Given the description of an element on the screen output the (x, y) to click on. 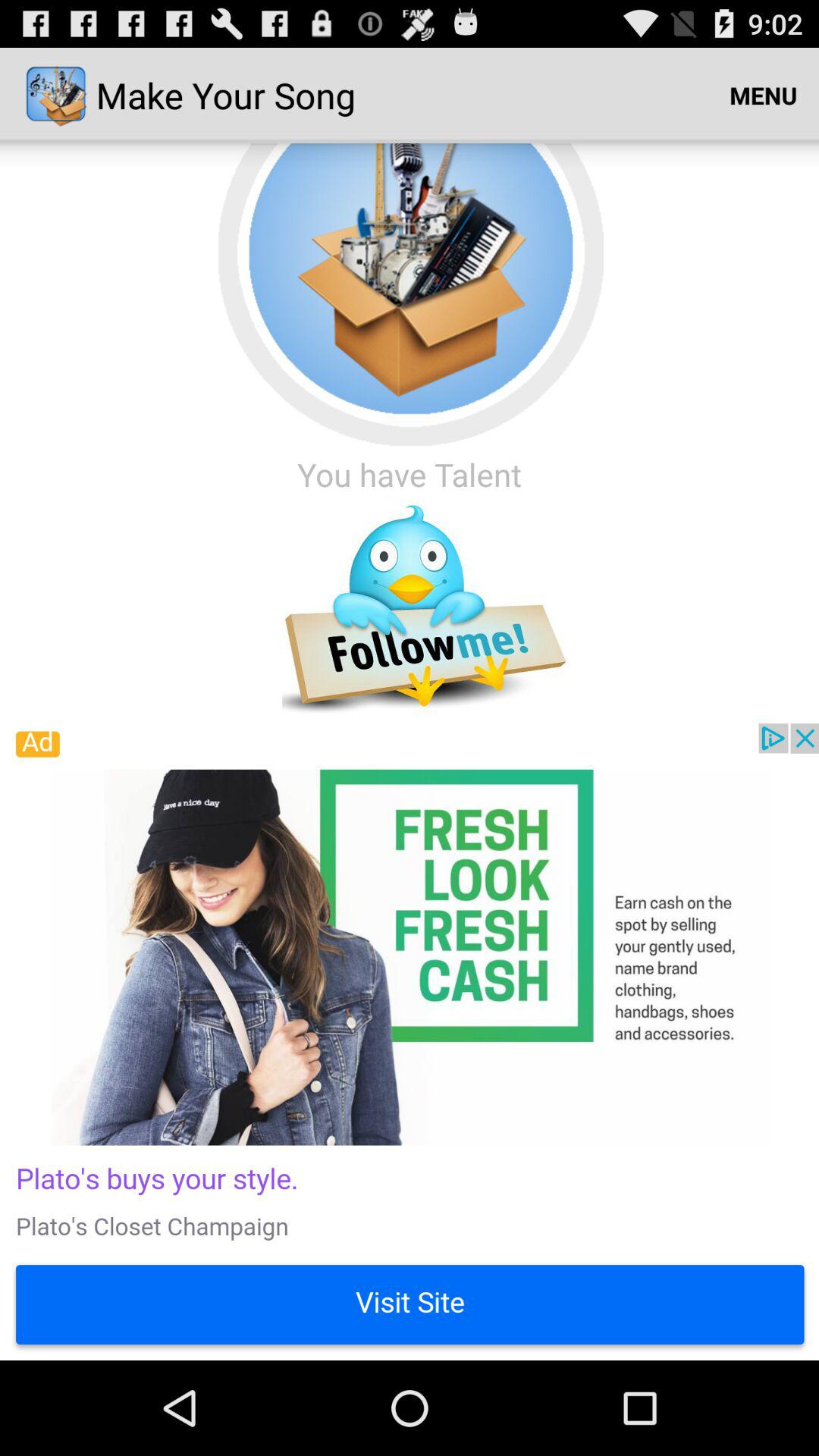
follow their account button (409, 609)
